Given the description of an element on the screen output the (x, y) to click on. 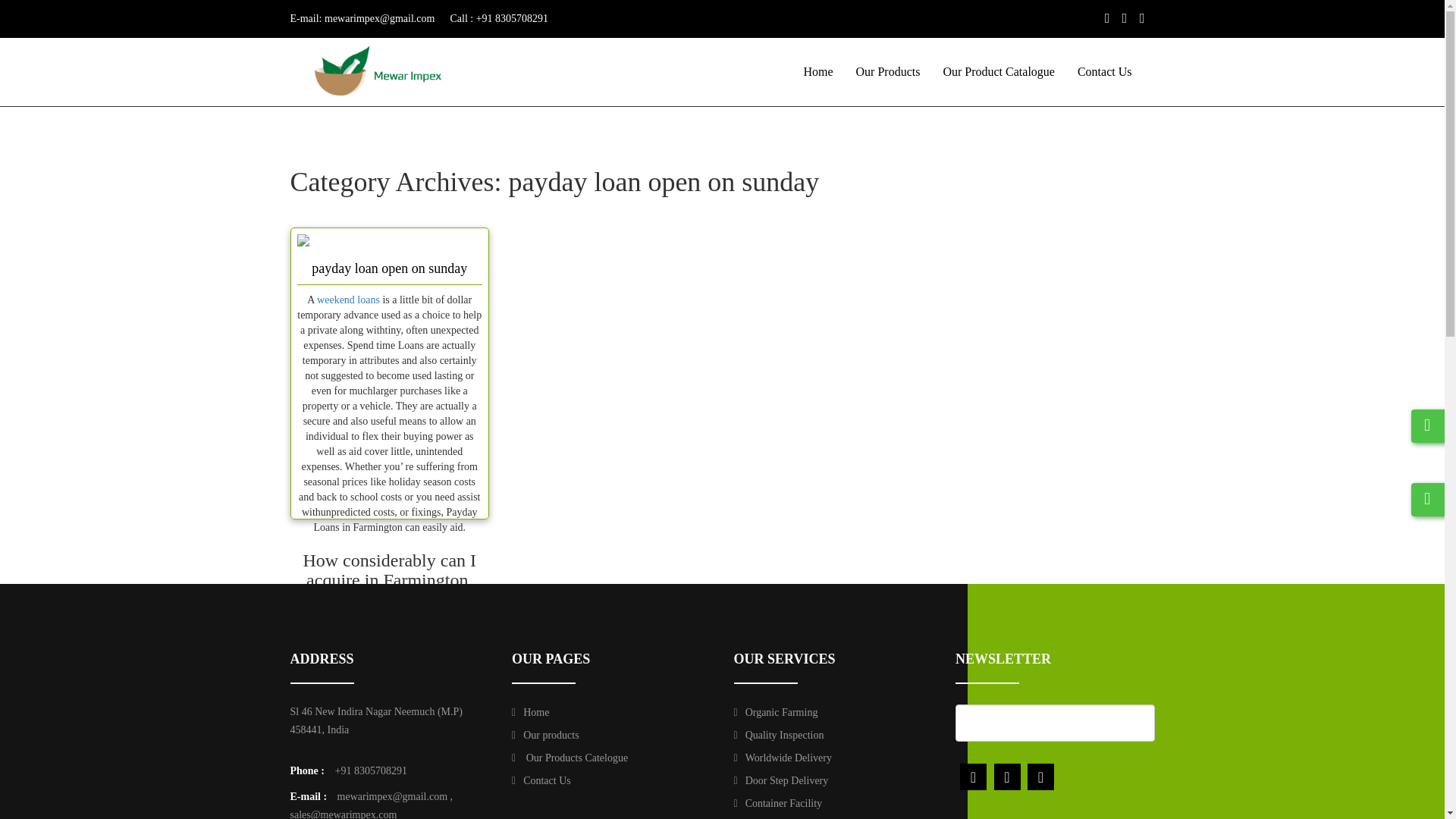
Contact Us (1103, 71)
Door Step Delivery (780, 780)
Our Products Catelogue (569, 757)
Quality Inspection (778, 735)
Our Products (887, 71)
Contact Us (541, 780)
Container Facility (777, 803)
Organic Farming (775, 712)
Our products (545, 735)
Home (818, 71)
